Given the description of an element on the screen output the (x, y) to click on. 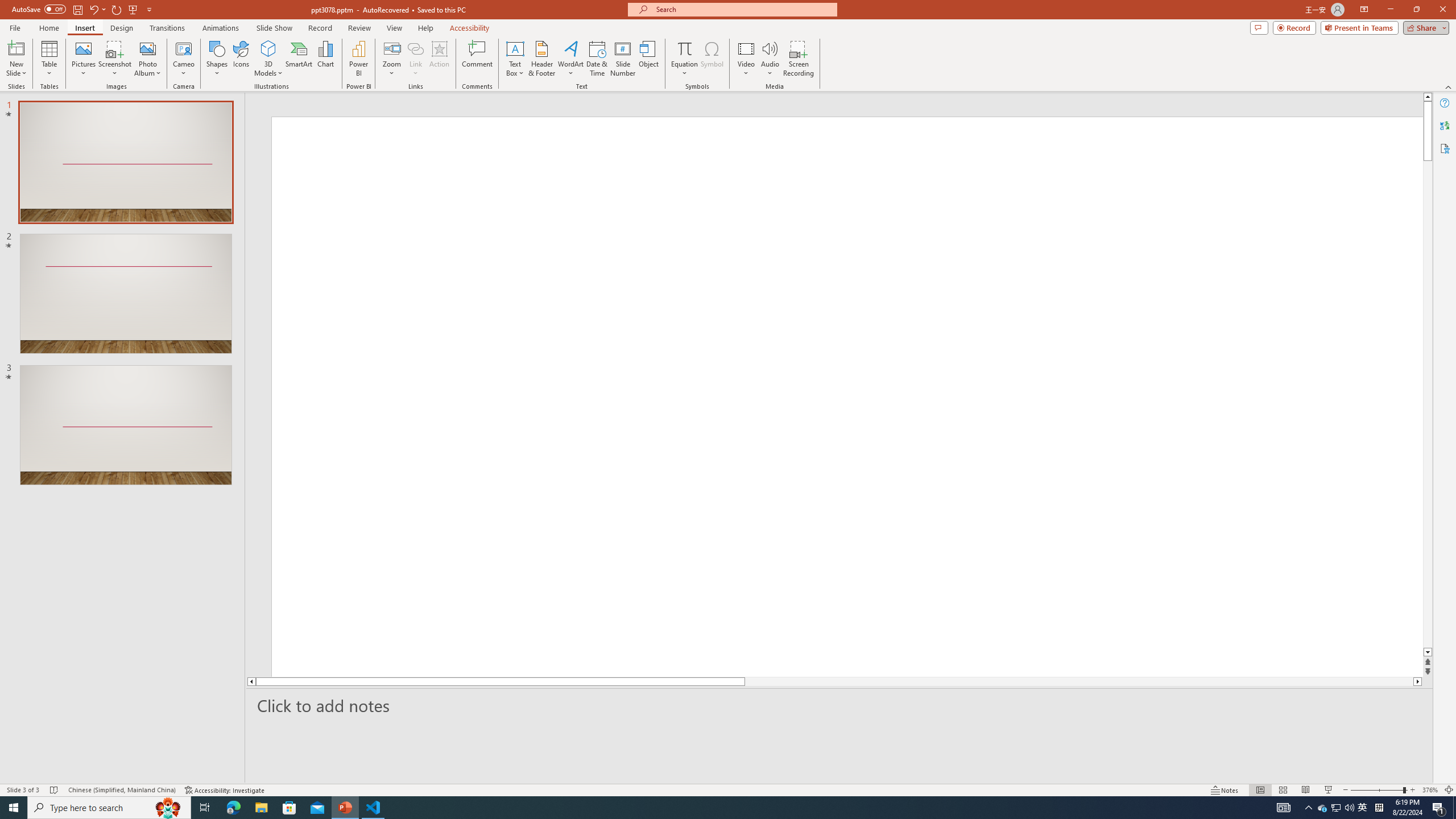
Screenshot (114, 58)
Comment (476, 58)
An abstract genetic concept (834, 395)
Chart... (325, 58)
SmartArt... (298, 58)
Table (49, 58)
